Given the description of an element on the screen output the (x, y) to click on. 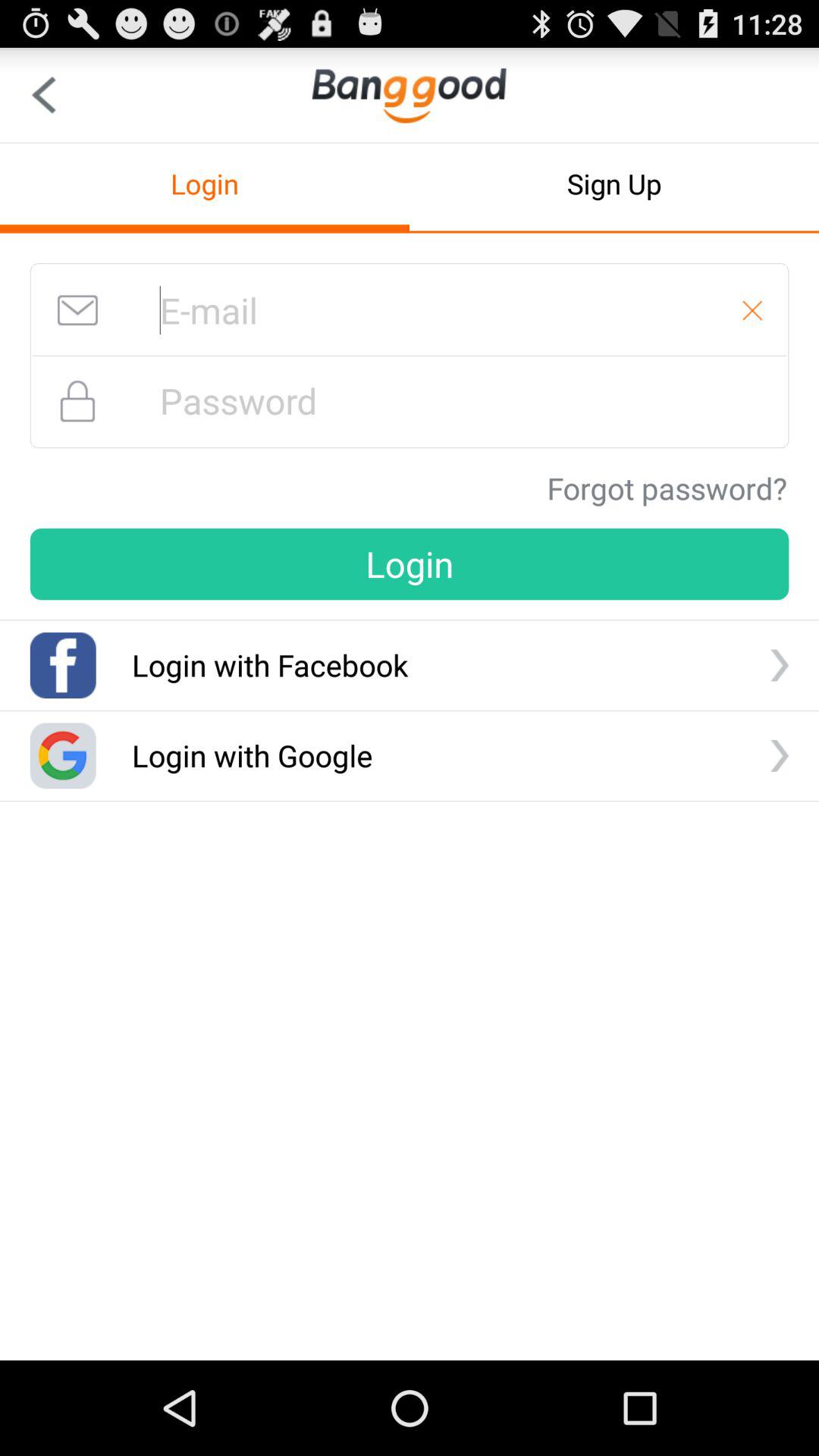
go back (43, 95)
